Given the description of an element on the screen output the (x, y) to click on. 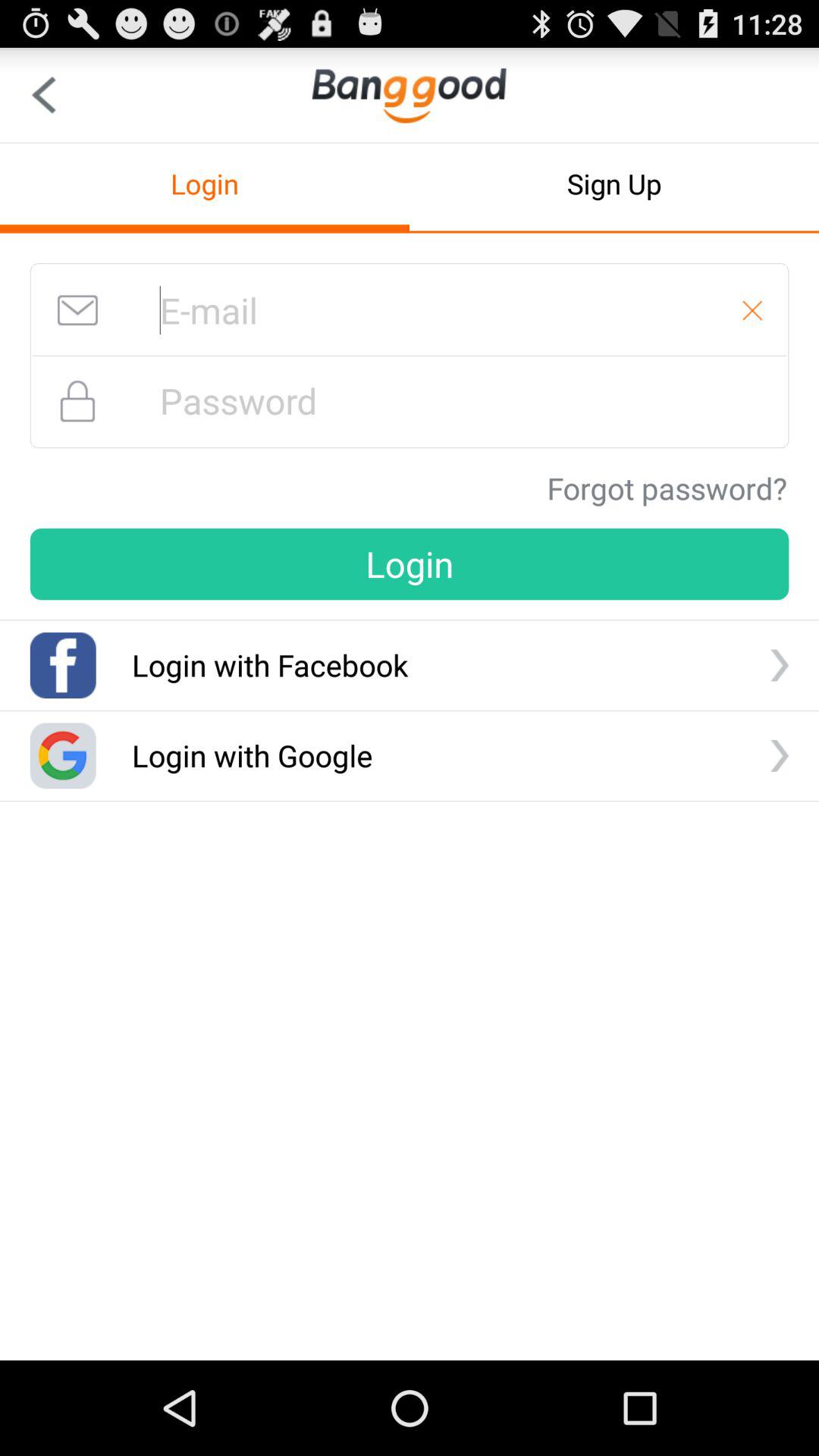
go back (43, 95)
